Given the description of an element on the screen output the (x, y) to click on. 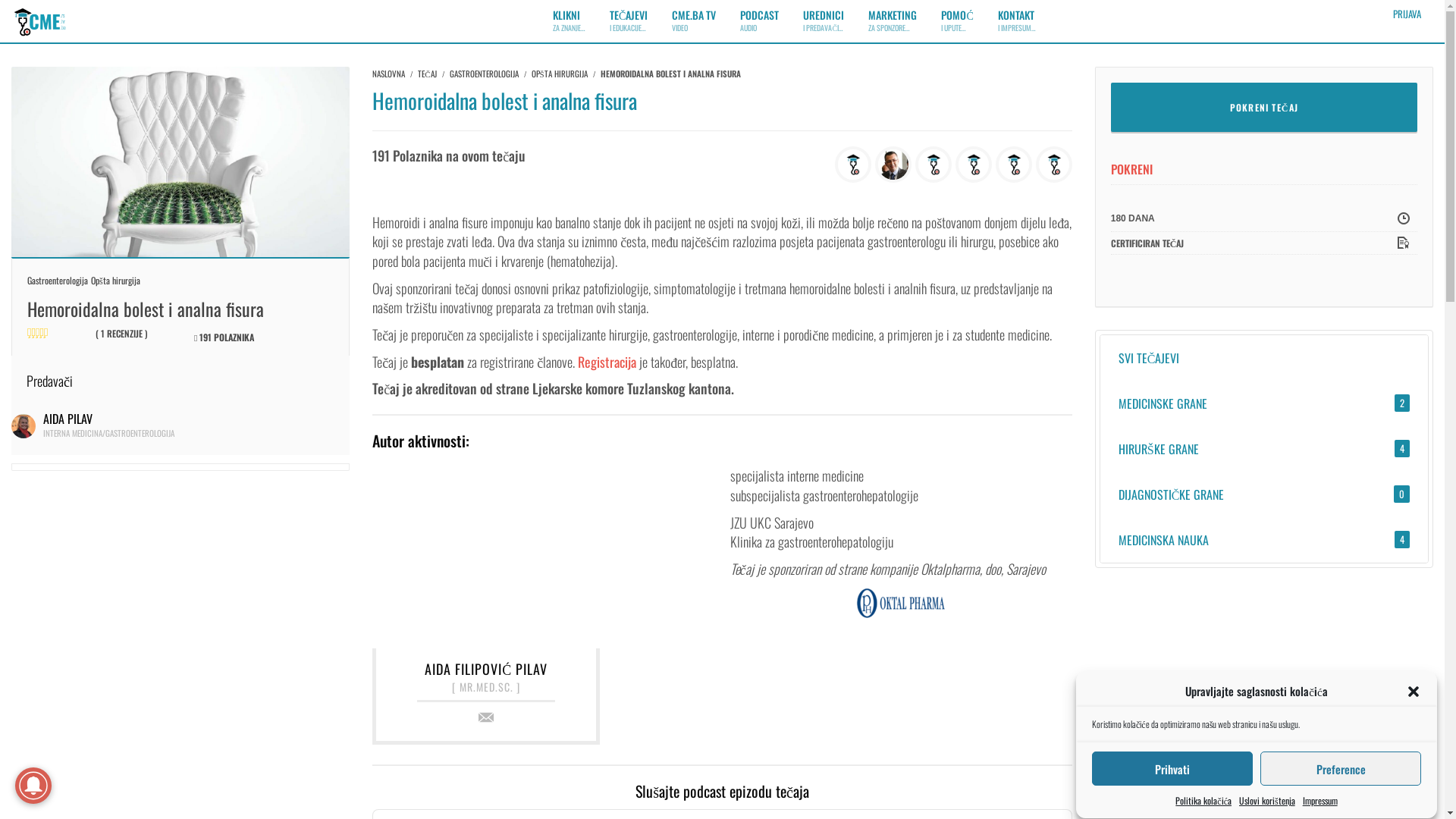
AIDA PILAV
INTERNA MEDICINA/GASTROENTEROLOGIJA Element type: text (108, 424)
Gastroenterologija Element type: text (57, 279)
PRIJAVA Element type: text (1406, 14)
NASLOVNA Element type: text (388, 73)
Preference Element type: text (1340, 769)
MEDICINSKA NAUKA
4 Element type: text (1263, 539)
CME.BA TV
VIDEO Element type: text (693, 20)
Registracija Element type: text (606, 361)
GASTROENTEROLOGIJA Element type: text (483, 73)
MEDICINSKE GRANE
2 Element type: text (1263, 403)
PODCAST
AUDIO Element type: text (759, 20)
letter-mail-1 clicked Element type: hover (485, 716)
Hemoroidalna bolest i analna fisura Element type: hover (180, 159)
Prihvati Element type: text (1172, 769)
Impressum Element type: text (1319, 799)
